Given the description of an element on the screen output the (x, y) to click on. 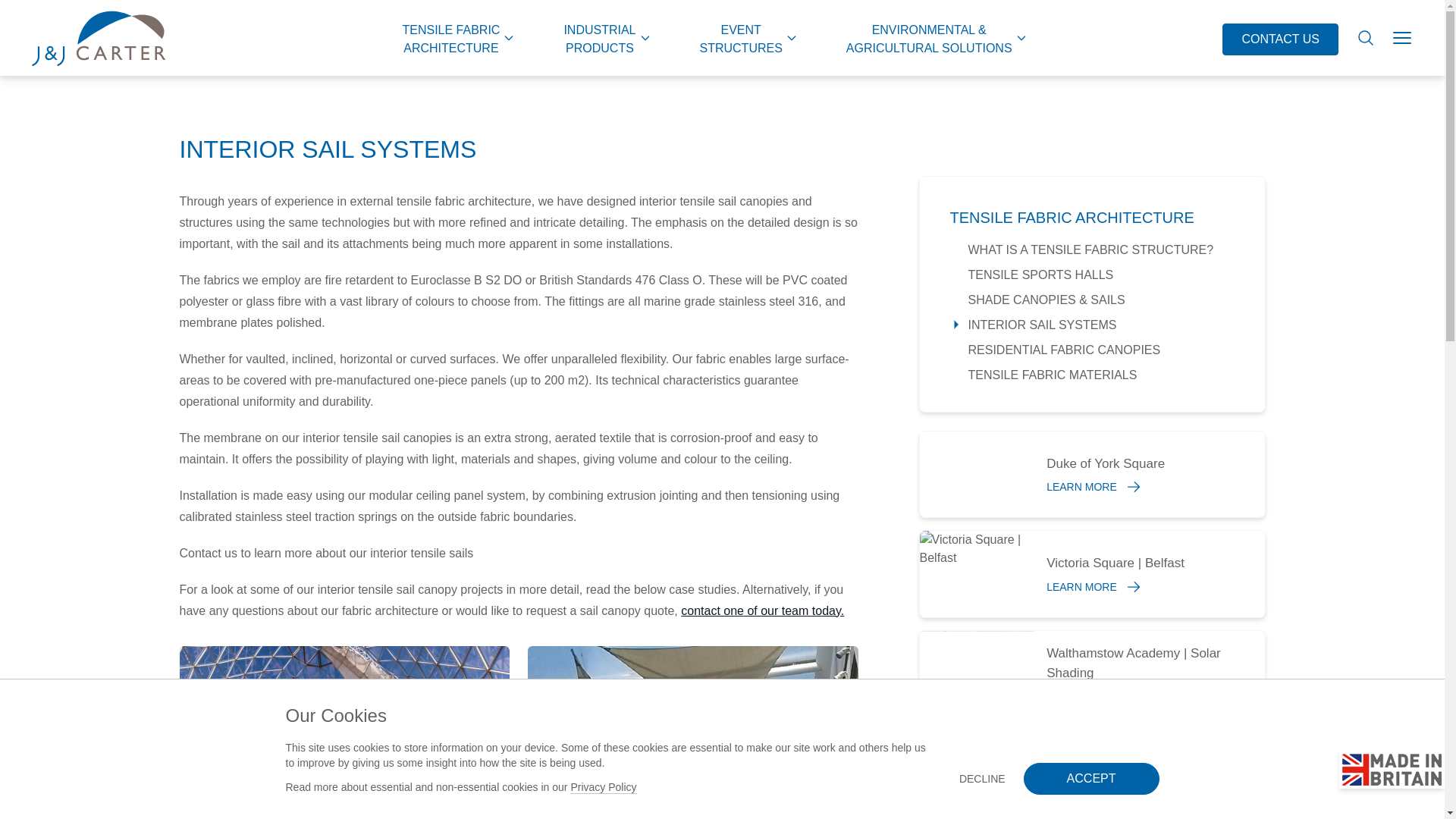
CONTACT US (748, 38)
